Given the description of an element on the screen output the (x, y) to click on. 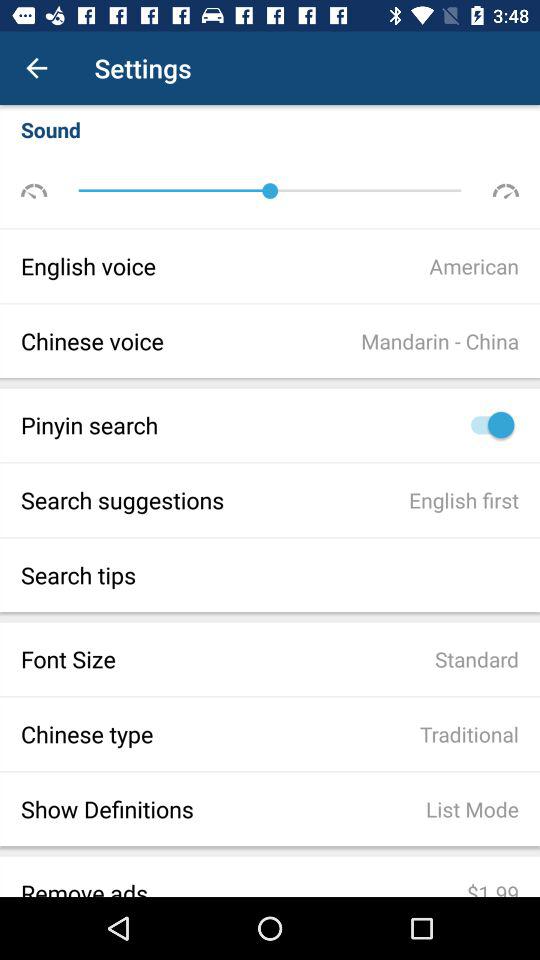
enable this setting (487, 424)
